Given the description of an element on the screen output the (x, y) to click on. 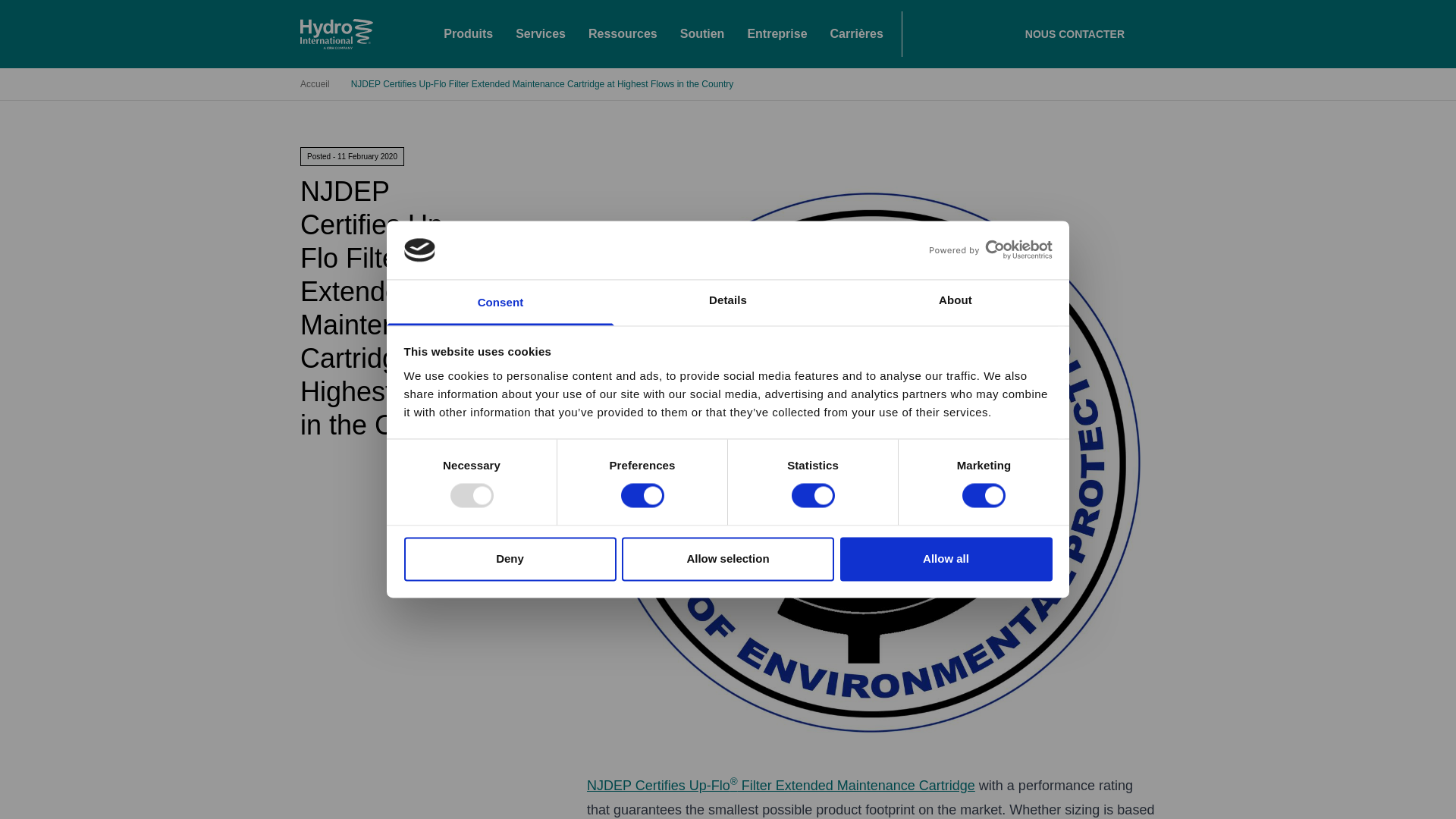
Consent (500, 302)
Select location (718, 529)
Details (727, 302)
About (954, 302)
